Given the description of an element on the screen output the (x, y) to click on. 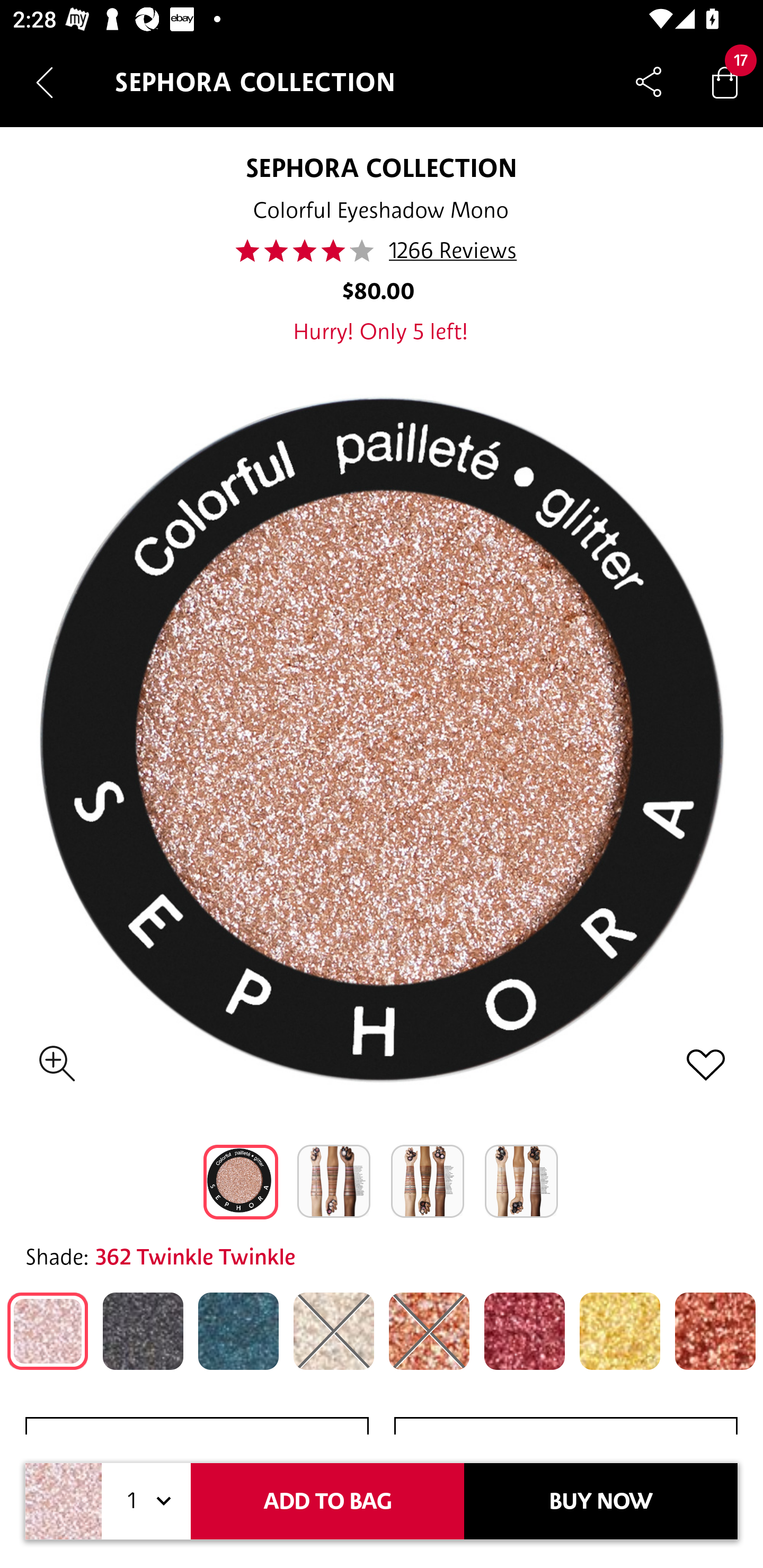
Navigate up (44, 82)
Share (648, 81)
Bag (724, 81)
SEPHORA COLLECTION (380, 167)
41.0 1266 Reviews (381, 250)
1 (145, 1500)
ADD TO BAG (326, 1500)
BUY NOW (600, 1500)
